Given the description of an element on the screen output the (x, y) to click on. 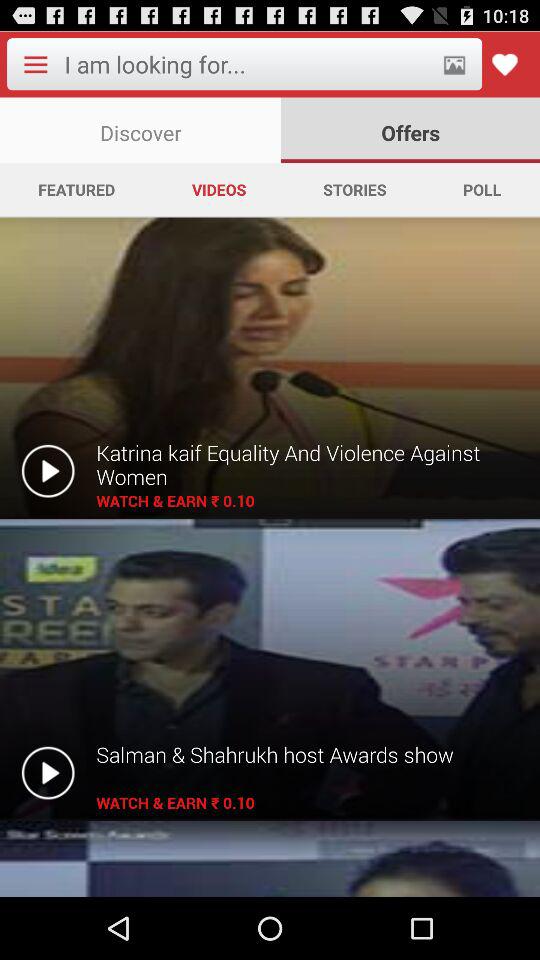
select the search box (246, 64)
click on stories option (354, 189)
click on the icon below 1018 (504, 64)
